Given the description of an element on the screen output the (x, y) to click on. 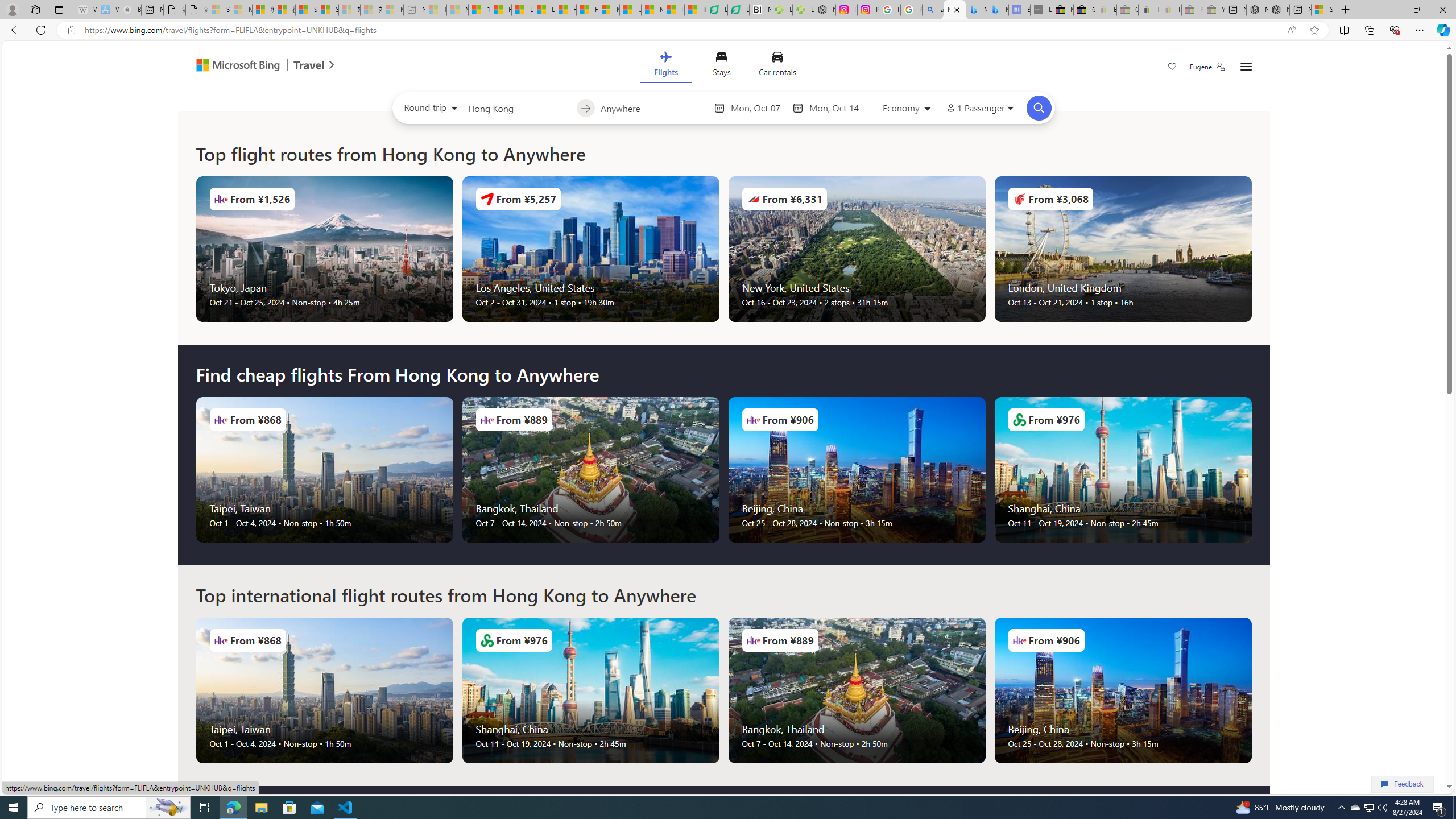
Buy iPad - Apple - Sleeping (130, 9)
End date (836, 107)
Class: autosuggest-container full-height no-y-padding (651, 107)
Nvidia va a poner a prueba la paciencia de los inversores (760, 9)
Nordace - Nordace Edin Collection (824, 9)
Microsoft Bing Travel (253, 65)
Going to? (651, 107)
Leaving from? (518, 107)
LendingTree - Compare Lenders (738, 9)
